Given the description of an element on the screen output the (x, y) to click on. 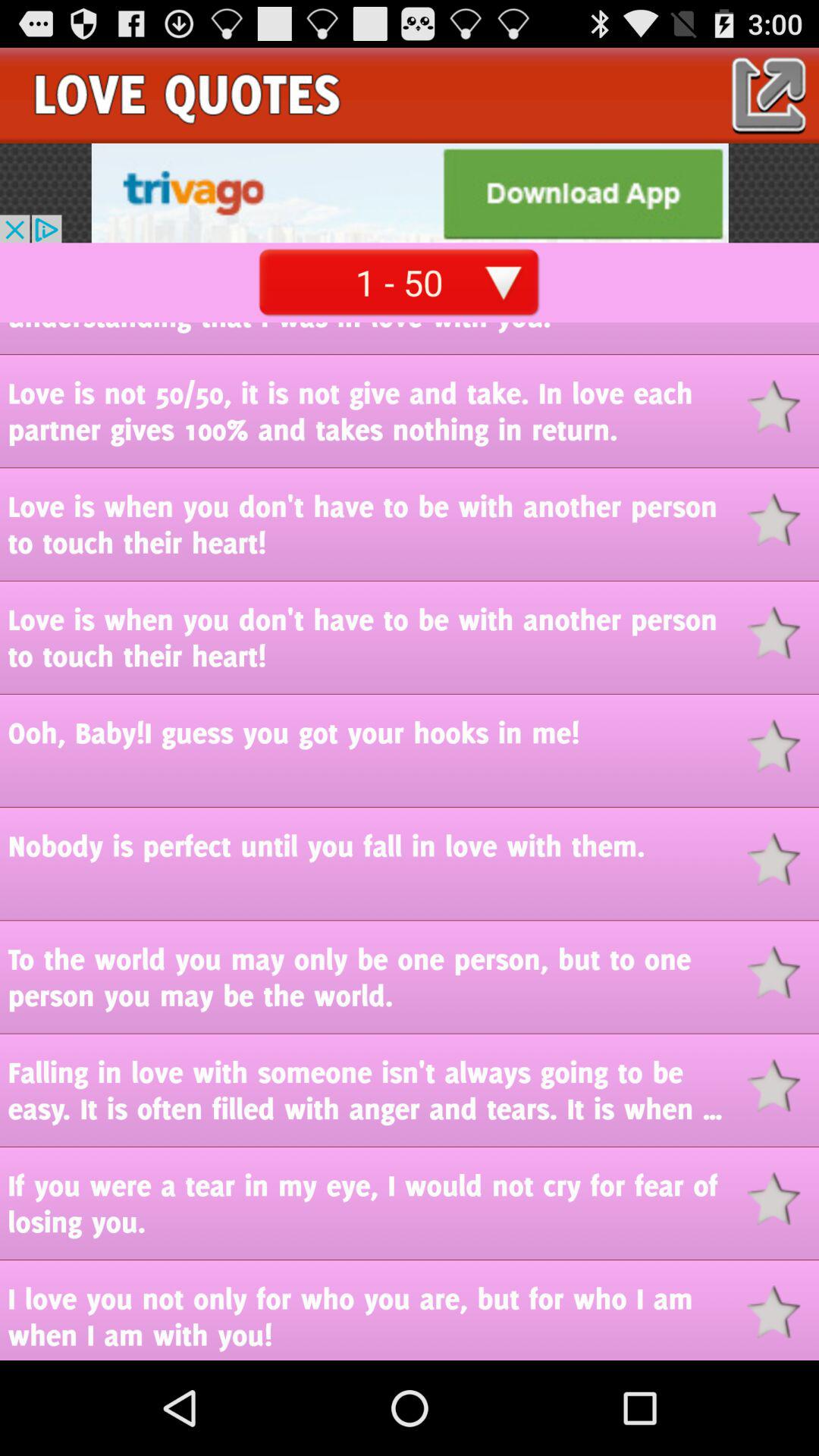
choose the selected story (783, 1085)
